Given the description of an element on the screen output the (x, y) to click on. 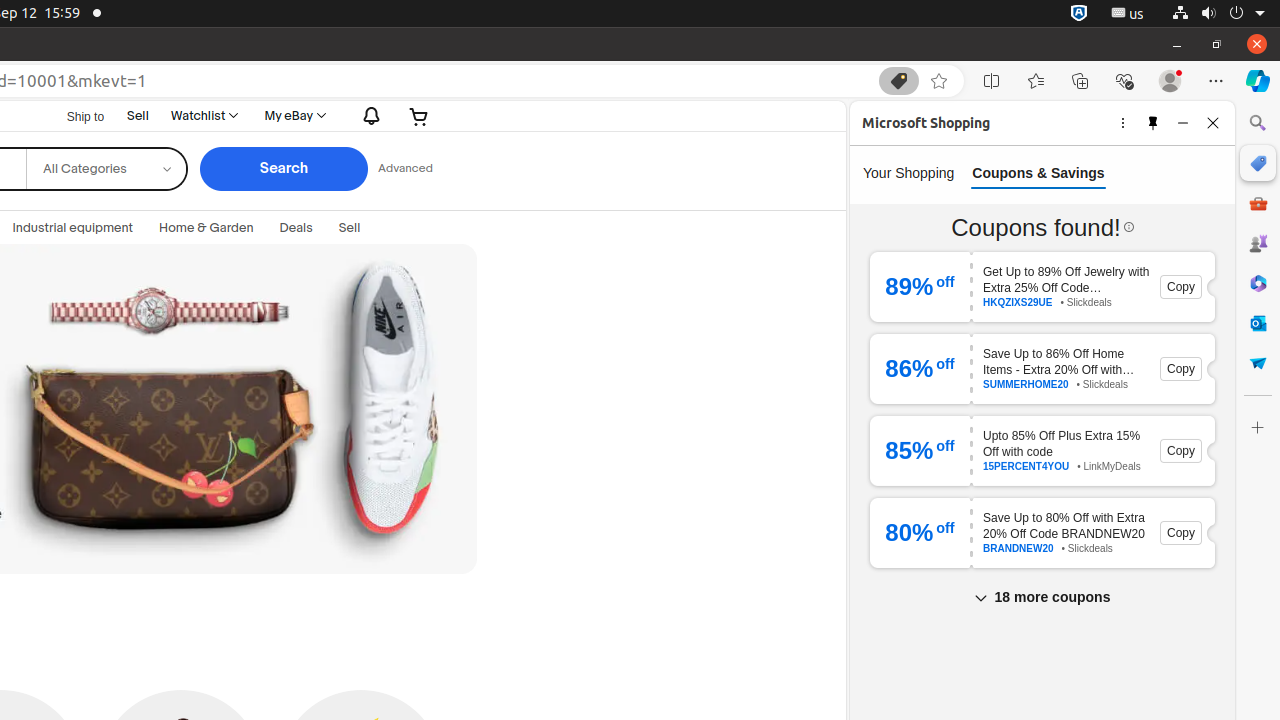
Copilot (Ctrl+Shift+.) Element type: push-button (1258, 81)
Outlook Element type: push-button (1258, 323)
80 % off Save Up to 80% Off with Extra 20% Off Code BRANDNEW20 BRANDNEW20 • Slickdeals Copy Element type: push-button (1042, 533)
Unpin side pane Element type: push-button (1153, 122)
All Categories Element type: menu-item (105, 154)
